Given the description of an element on the screen output the (x, y) to click on. 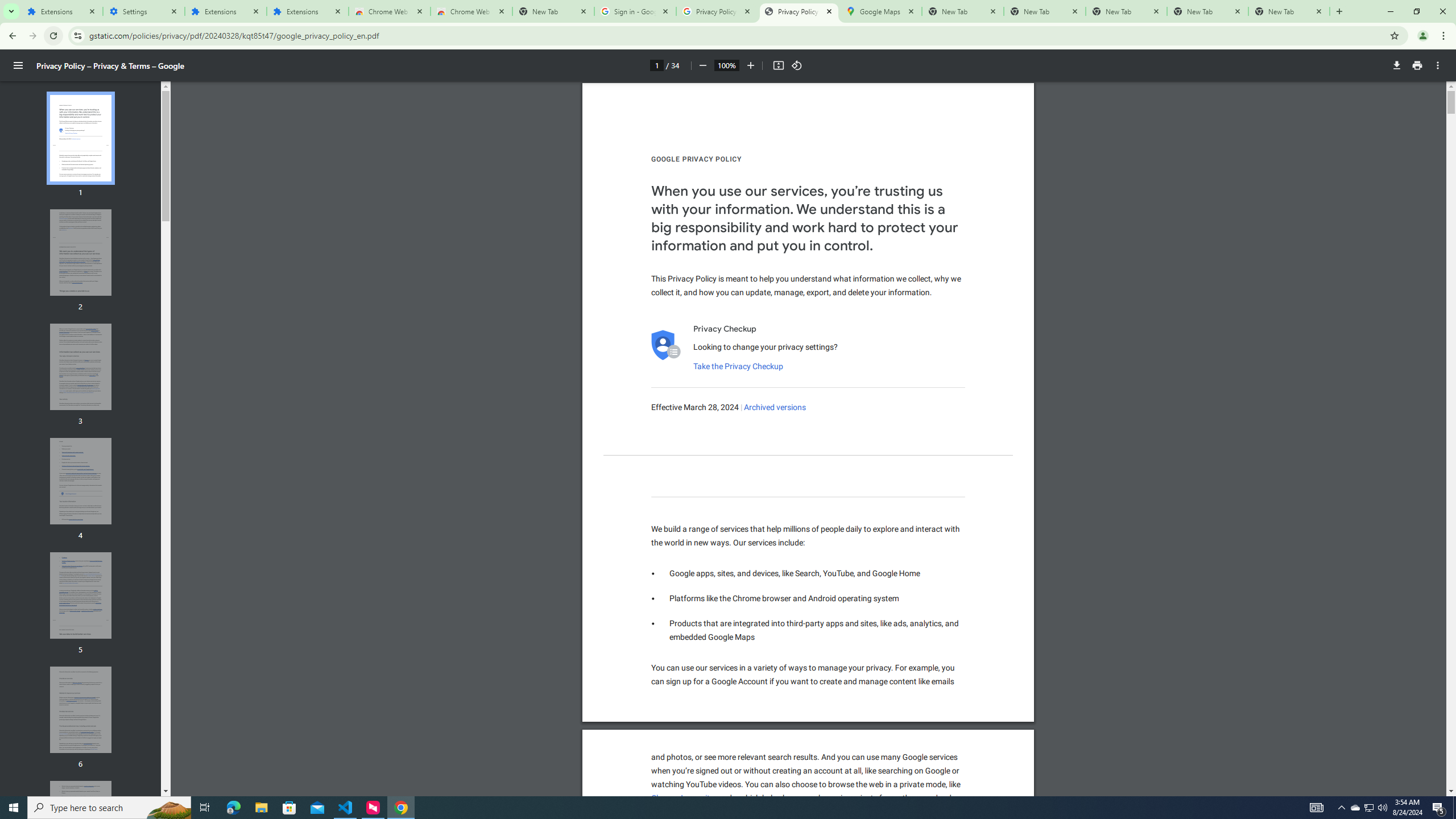
Extensions (307, 11)
More actions (1437, 65)
Archived versions (775, 406)
